Given the description of an element on the screen output the (x, y) to click on. 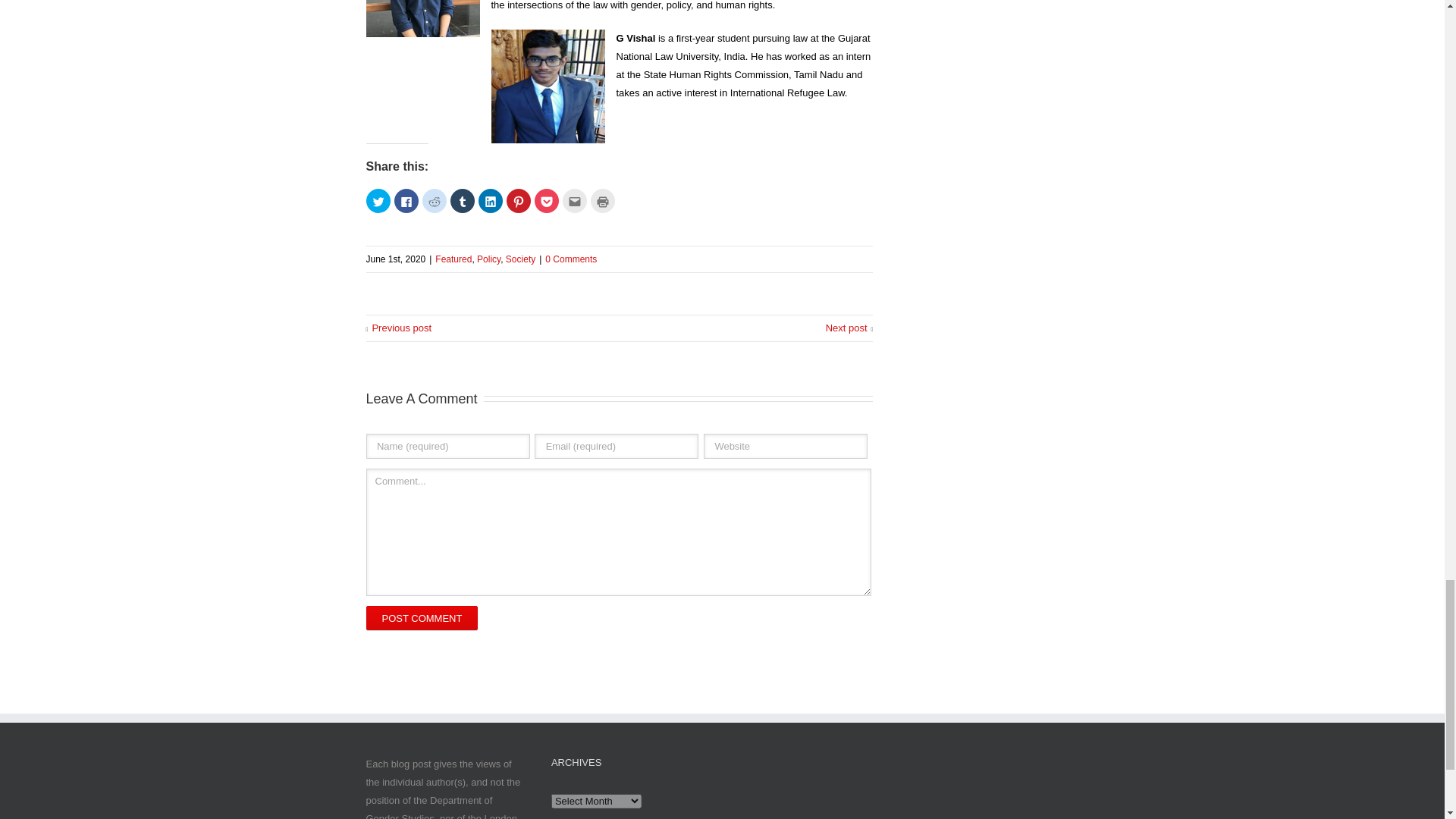
Click to share on Facebook (406, 200)
Click to share on Pocket (545, 200)
Click to print (601, 200)
Click to share on Twitter (377, 200)
Click to email this to a friend (574, 200)
Click to share on Reddit (433, 200)
Click to share on Pinterest (518, 200)
Post Comment (421, 617)
Click to share on Tumblr (461, 200)
Click to share on LinkedIn (489, 200)
